Given the description of an element on the screen output the (x, y) to click on. 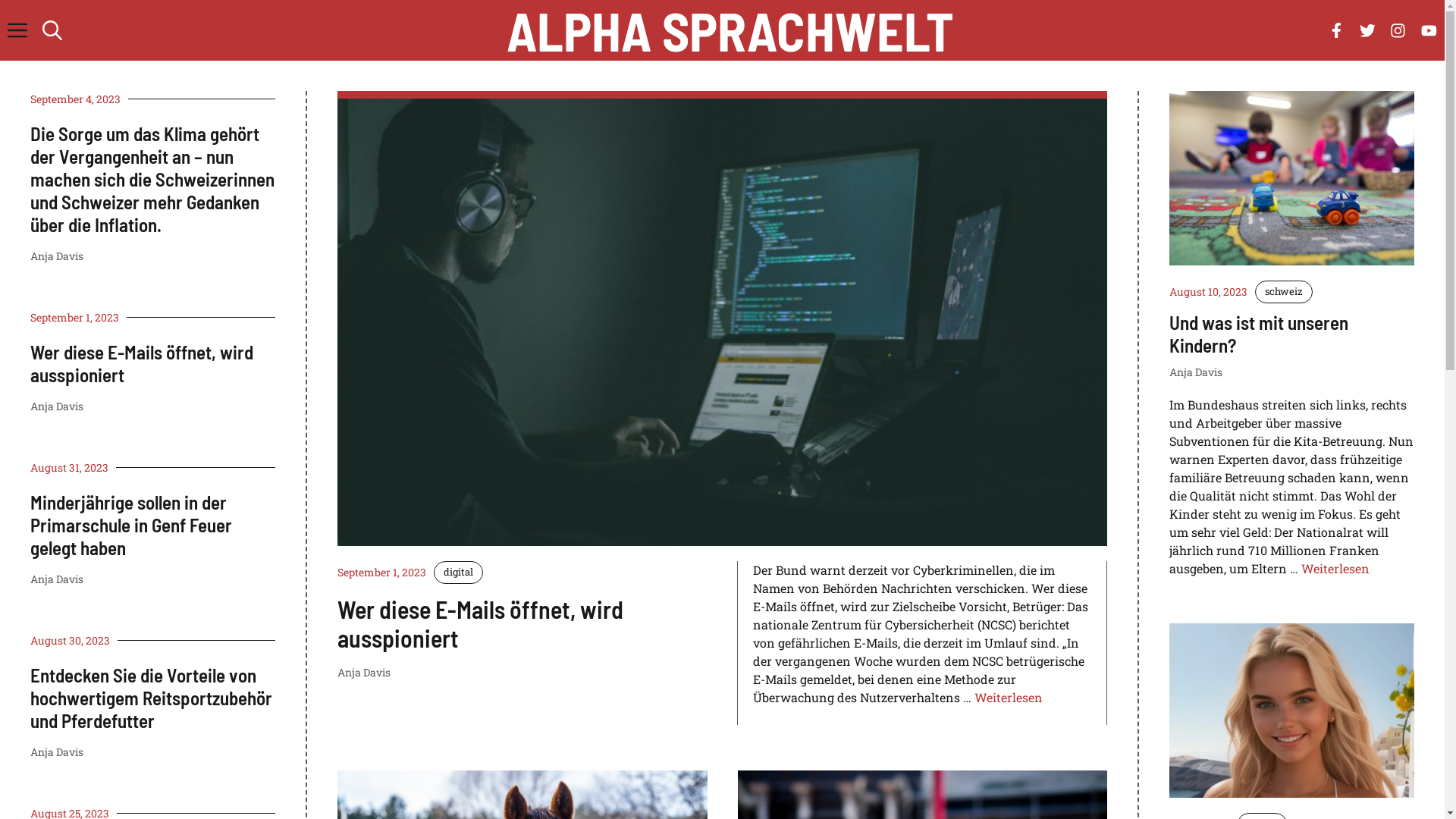
Anja Davis Element type: text (56, 255)
Weiterlesen Element type: text (1335, 567)
Anja Davis Element type: text (363, 672)
Anja Davis Element type: text (56, 405)
Anja Davis Element type: text (56, 751)
schweiz Element type: text (1283, 291)
Anja Davis Element type: text (1195, 371)
Und was ist mit unseren Kindern? Element type: text (1258, 333)
Weiterlesen Element type: text (1008, 697)
digital Element type: text (458, 572)
Anja Davis Element type: text (56, 578)
ALPHA SPRACHWELT Element type: text (729, 30)
